Given the description of an element on the screen output the (x, y) to click on. 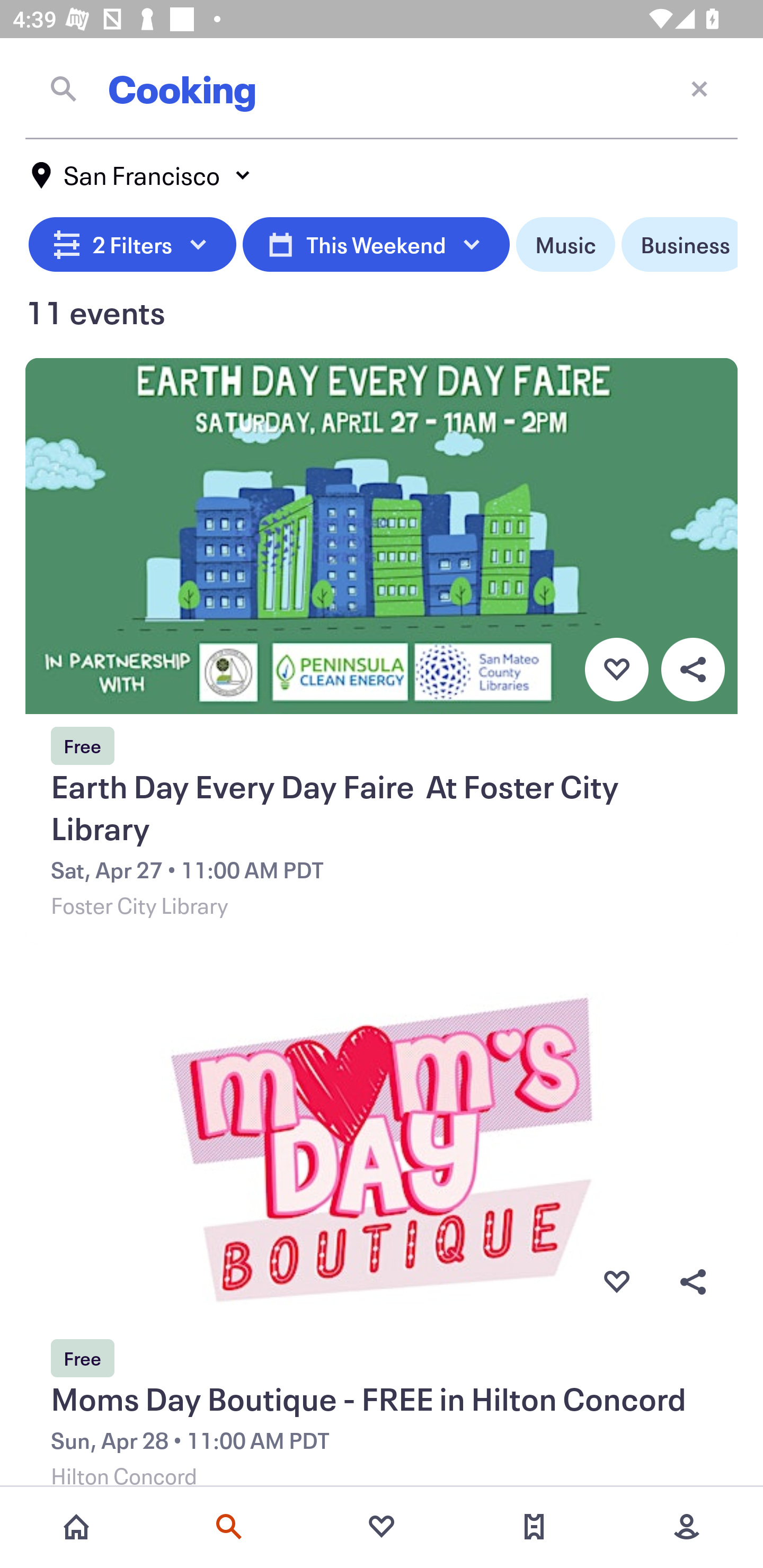
Cooking Close current screen (381, 88)
Close current screen (699, 88)
San Francisco (141, 175)
2 Filters (132, 244)
This Weekend (375, 244)
Music (564, 244)
Business (679, 244)
Favorite button (616, 669)
Overflow menu button (692, 669)
Favorite button (616, 1281)
Overflow menu button (692, 1281)
Home (76, 1526)
Search events (228, 1526)
Favorites (381, 1526)
Tickets (533, 1526)
More (686, 1526)
